Given the description of an element on the screen output the (x, y) to click on. 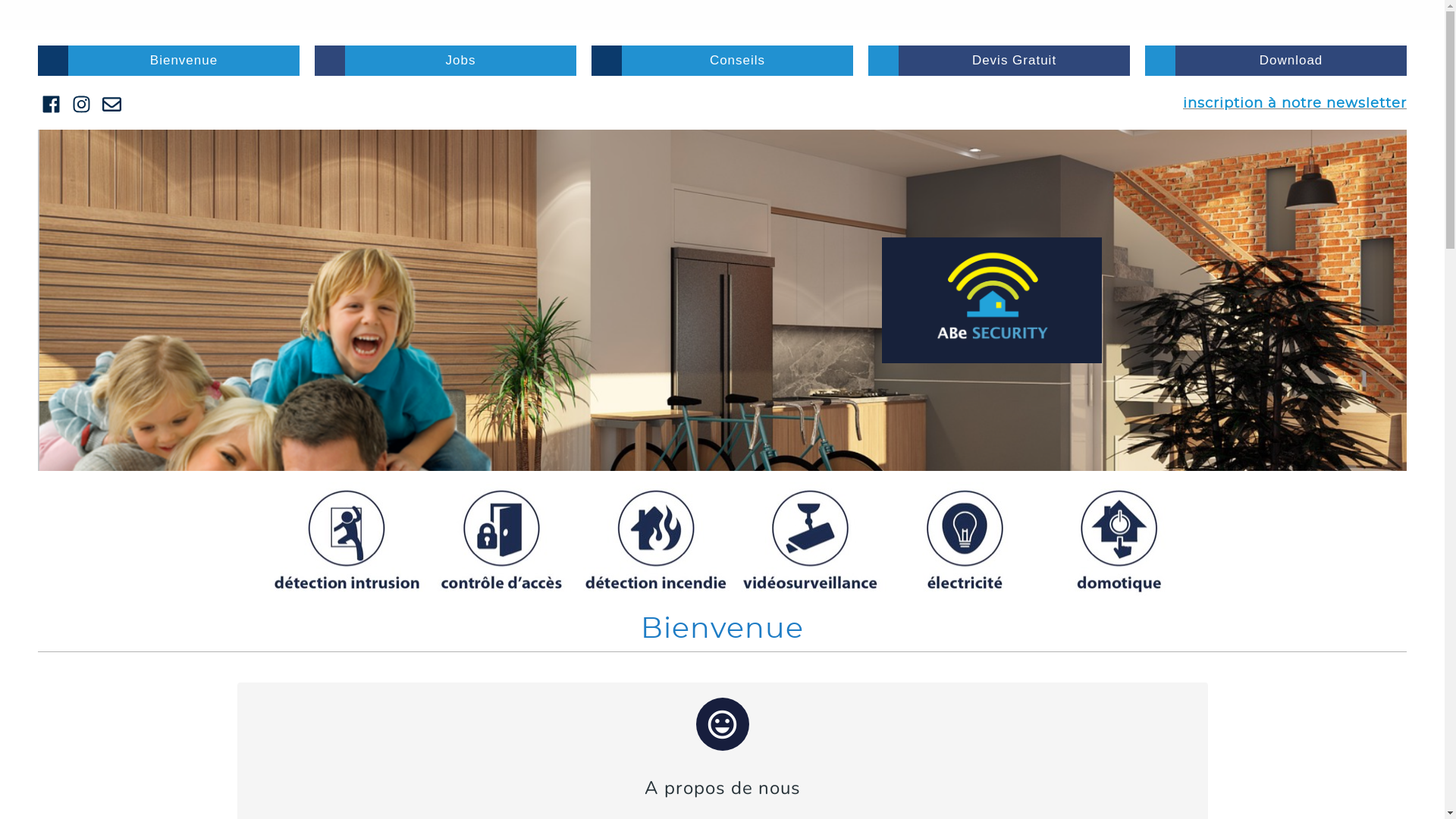
Download Element type: text (1275, 60)
Bienvenue Element type: text (168, 60)
Devis Gratuit Element type: text (998, 60)
Jobs Element type: text (445, 60)
Conseils Element type: text (722, 60)
